Given the description of an element on the screen output the (x, y) to click on. 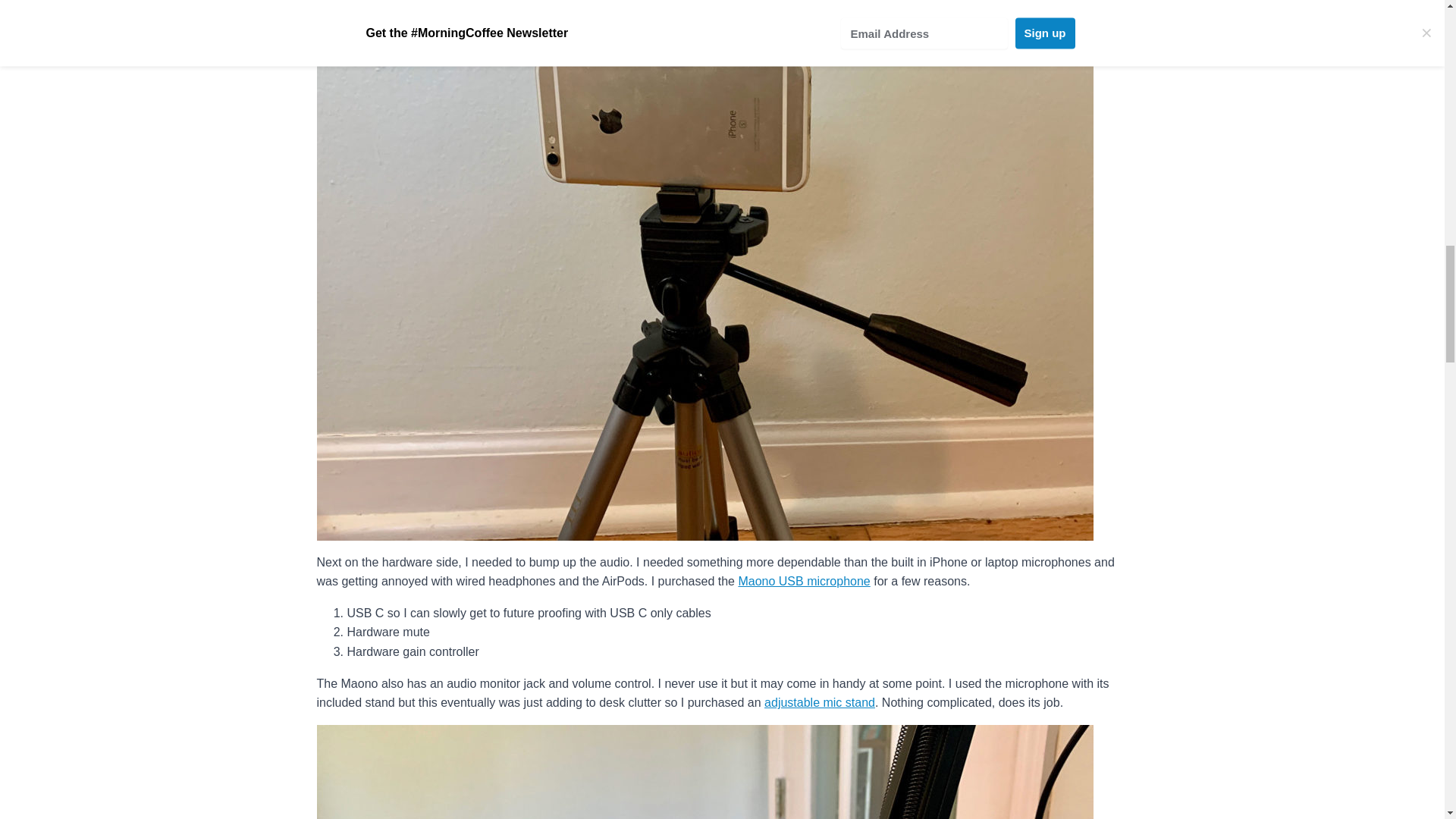
adjustable mic stand (819, 702)
Maono USB microphone (803, 581)
